Given the description of an element on the screen output the (x, y) to click on. 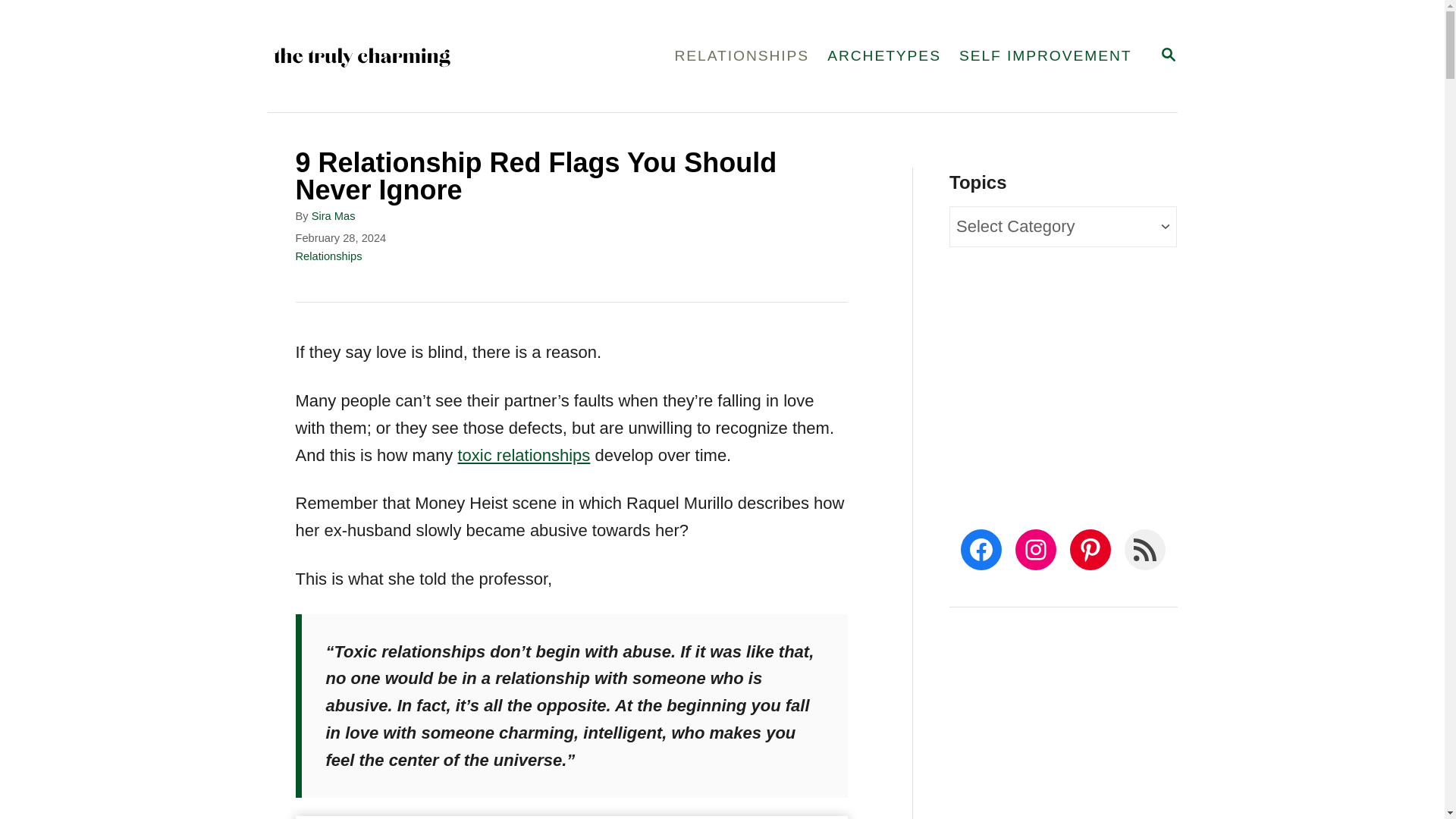
Sira Mas (333, 215)
Relationships (328, 256)
toxic relationships (523, 455)
ARCHETYPES (1168, 56)
RELATIONSHIPS (884, 55)
MAGNIFYING GLASS (741, 55)
SELF IMPROVEMENT (1167, 54)
The Truly Charming (1045, 55)
